Given the description of an element on the screen output the (x, y) to click on. 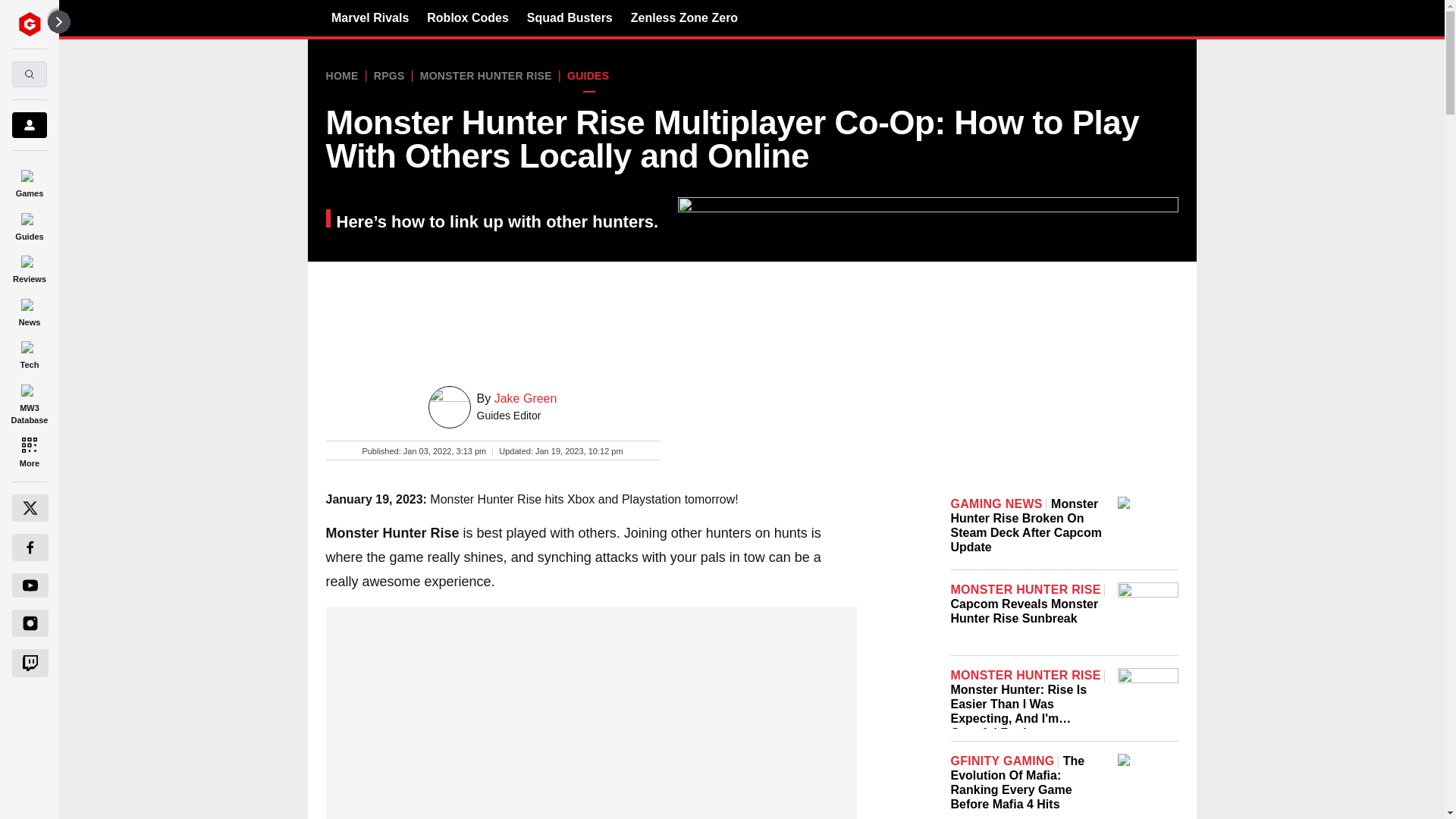
Games (28, 180)
More (28, 450)
Marvel Rivals (370, 18)
Roblox Codes (467, 18)
News (28, 309)
Reviews (28, 266)
Guides (28, 224)
Squad Busters (569, 18)
Tech (28, 352)
Zenless Zone Zero (684, 18)
